Given the description of an element on the screen output the (x, y) to click on. 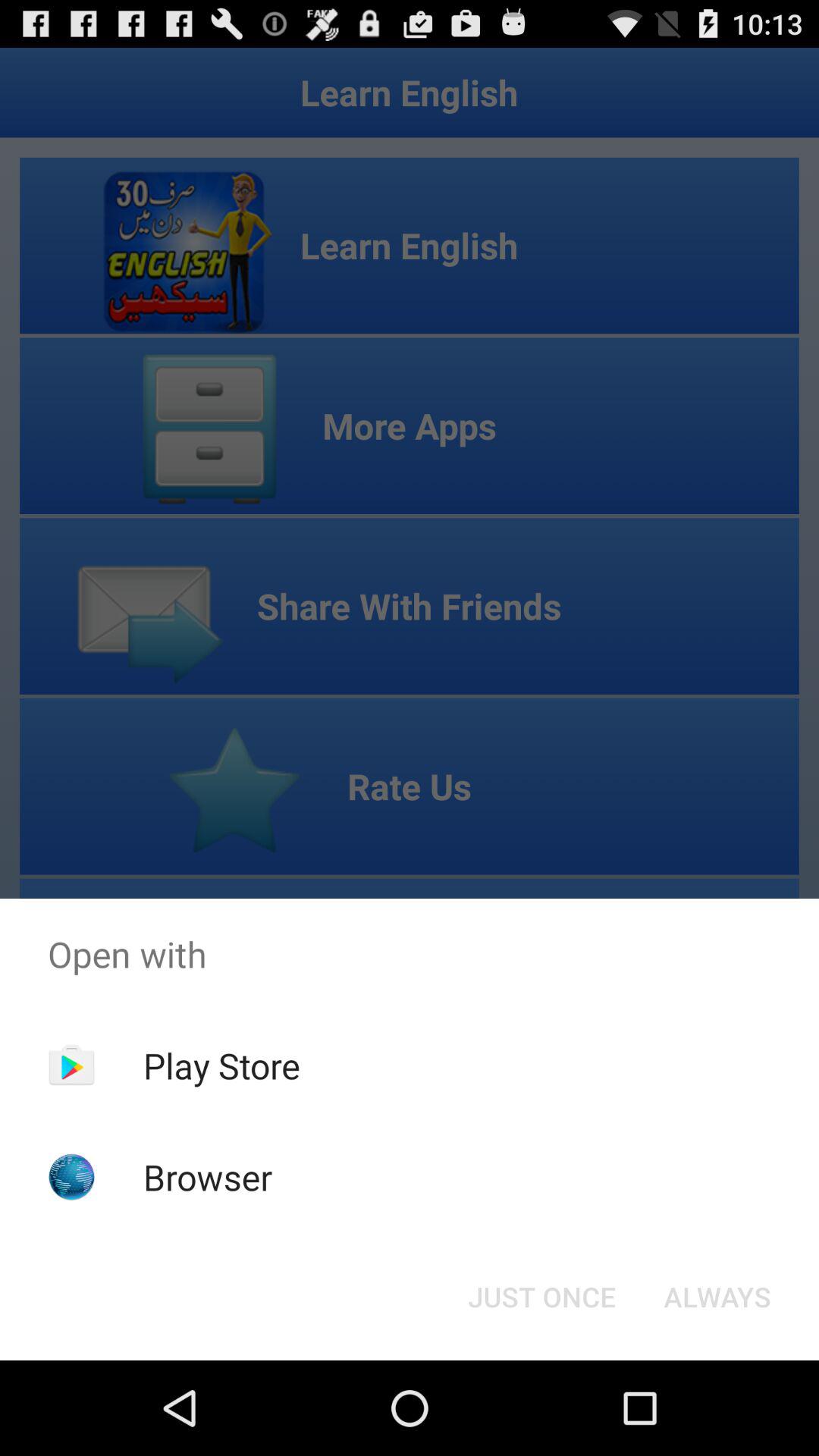
launch the browser (207, 1176)
